Given the description of an element on the screen output the (x, y) to click on. 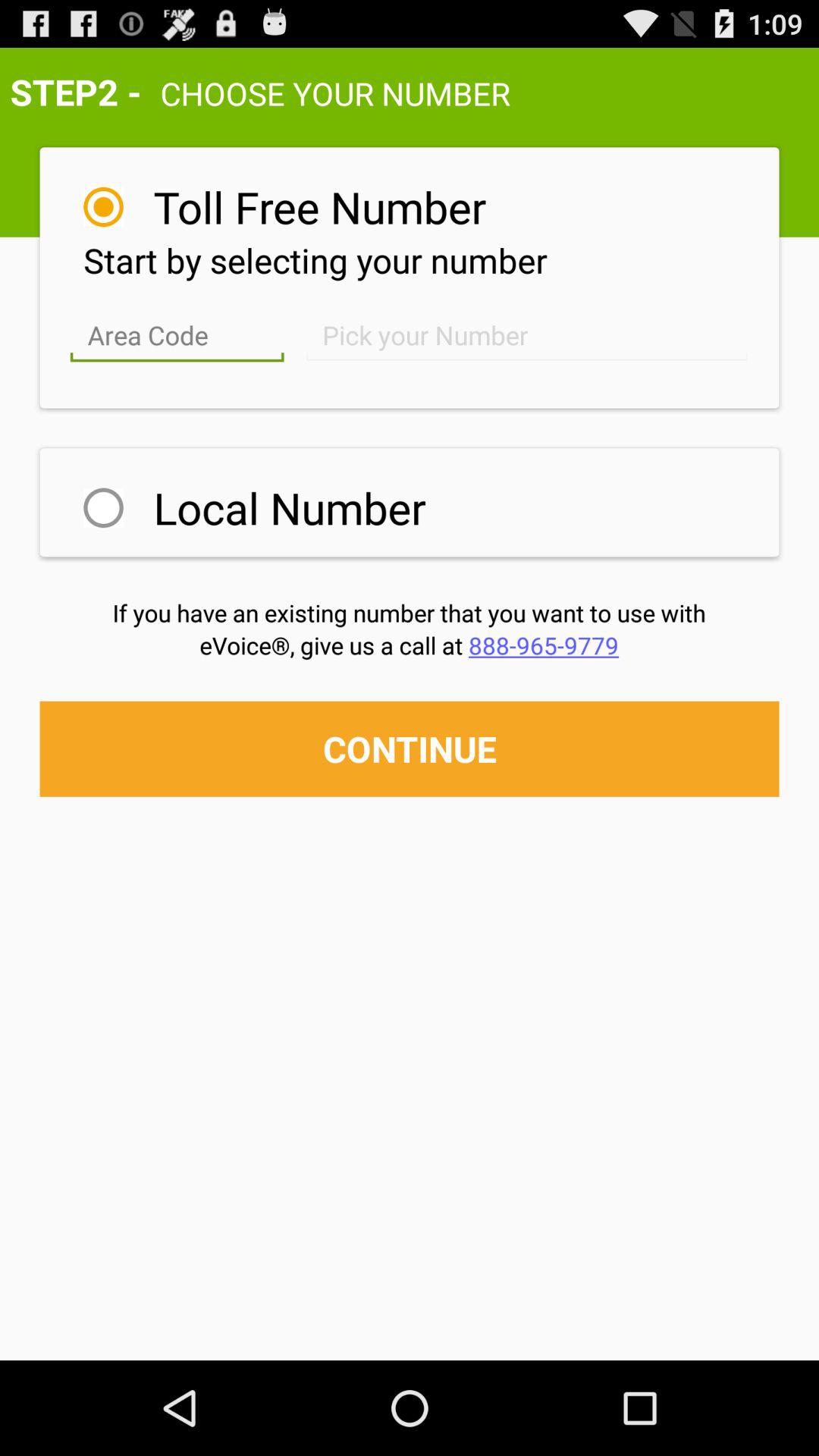
press continue (409, 748)
